Given the description of an element on the screen output the (x, y) to click on. 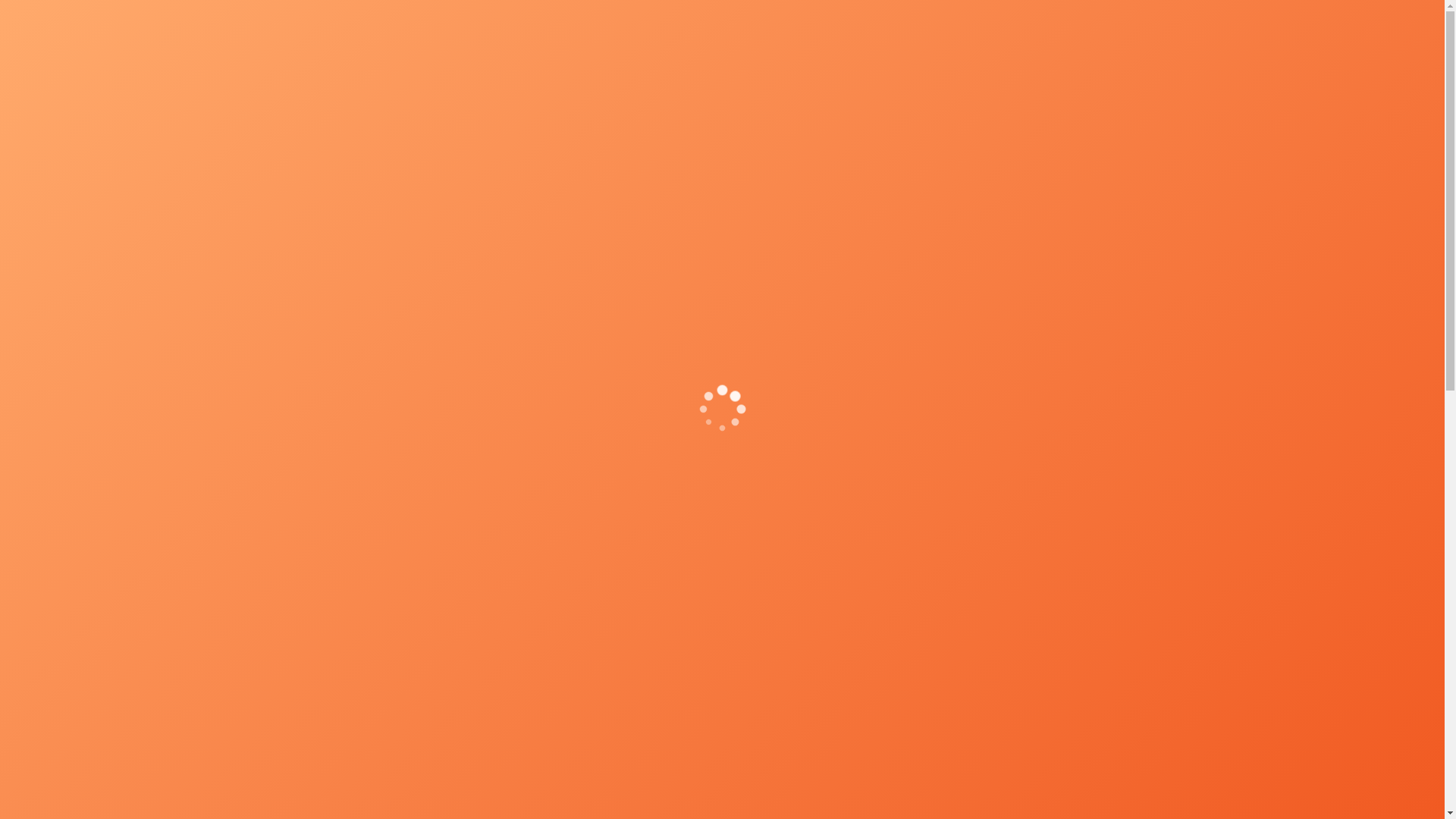
NEWS Element type: text (1287, 82)
BZ Immobilier Element type: text (91, 85)
ESPACE LOCATAIRE Element type: text (1368, 15)
ACHETER Element type: text (1194, 82)
LOUER Element type: text (1097, 82)
CONTACT Element type: text (1380, 82)
AGENCE Element type: text (844, 82)
